Given the description of an element on the screen output the (x, y) to click on. 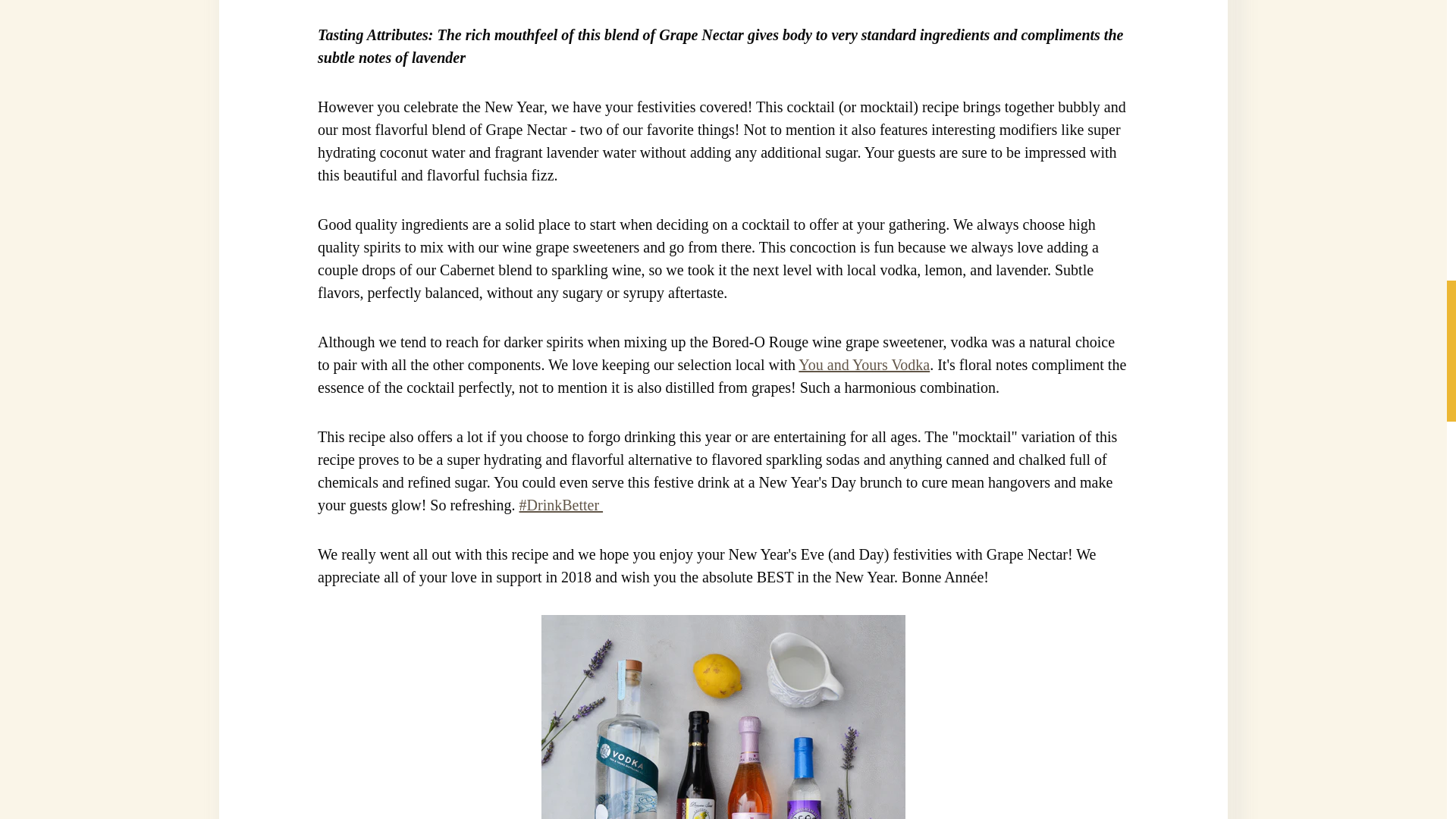
You and Yours Vodka (863, 364)
Drink Better Blog Posts  (561, 504)
